Given the description of an element on the screen output the (x, y) to click on. 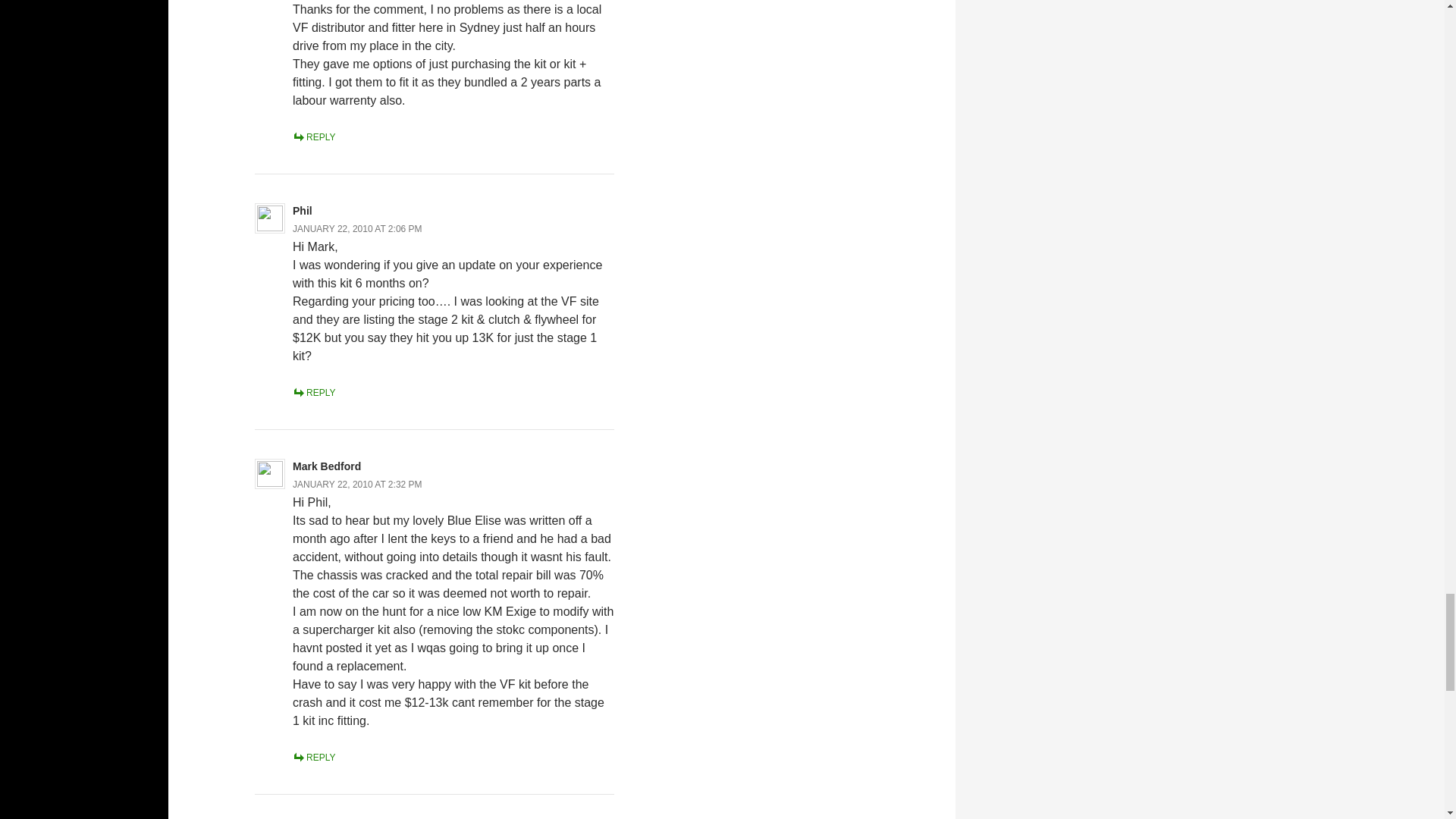
JANUARY 22, 2010 AT 2:06 PM (357, 228)
REPLY (313, 757)
REPLY (313, 136)
JANUARY 22, 2010 AT 2:32 PM (357, 484)
REPLY (313, 392)
Mark Bedford (326, 466)
